Given the description of an element on the screen output the (x, y) to click on. 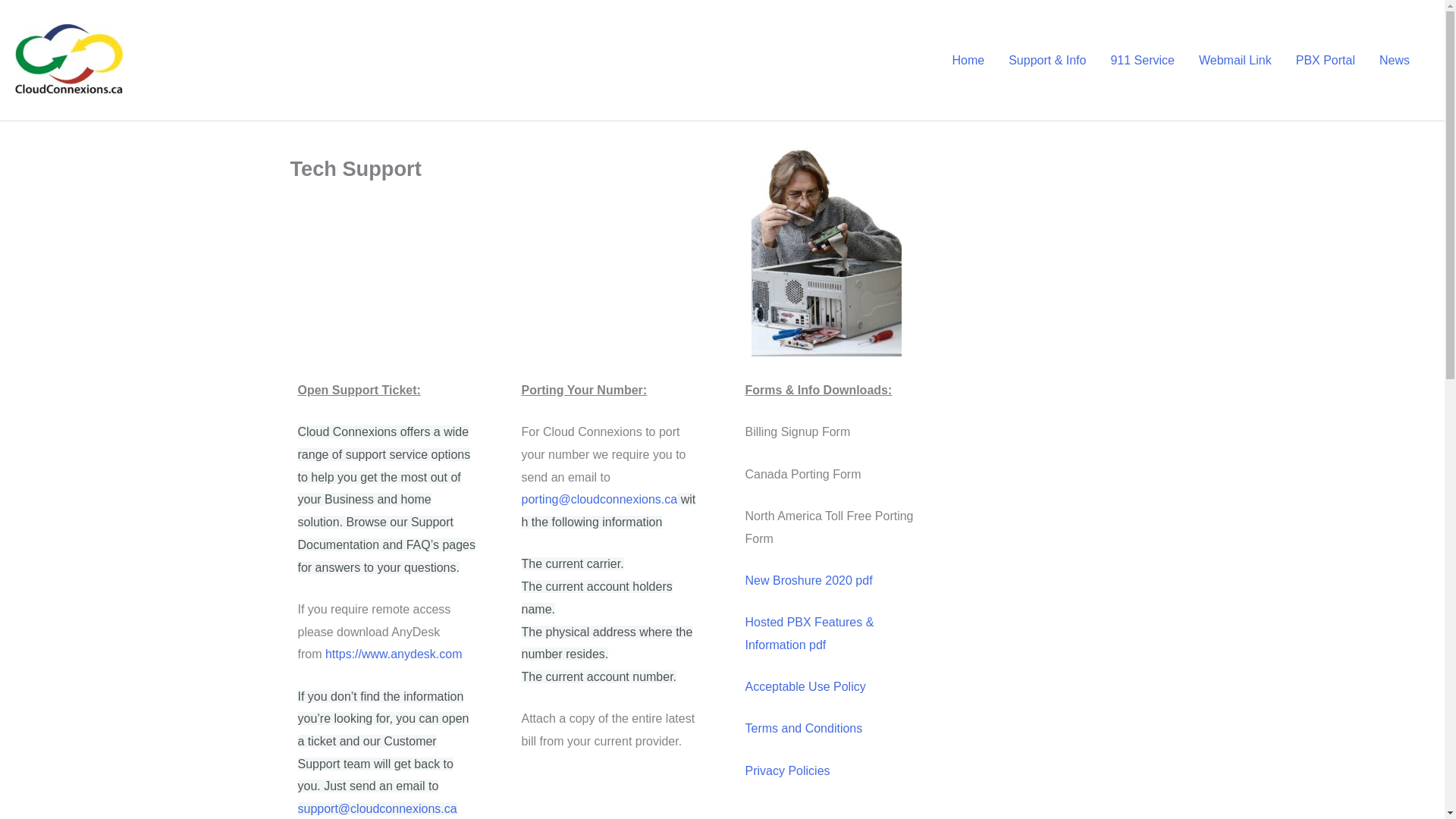
Acceptable Use Policy (804, 686)
Home (967, 59)
News (1394, 59)
Webmail Link (1235, 59)
PBX Portal (1325, 59)
Privacy Policies (786, 770)
Terms and Conditions (802, 727)
911 Service (1141, 59)
New Broshure 2020 pdf (808, 580)
